Given the description of an element on the screen output the (x, y) to click on. 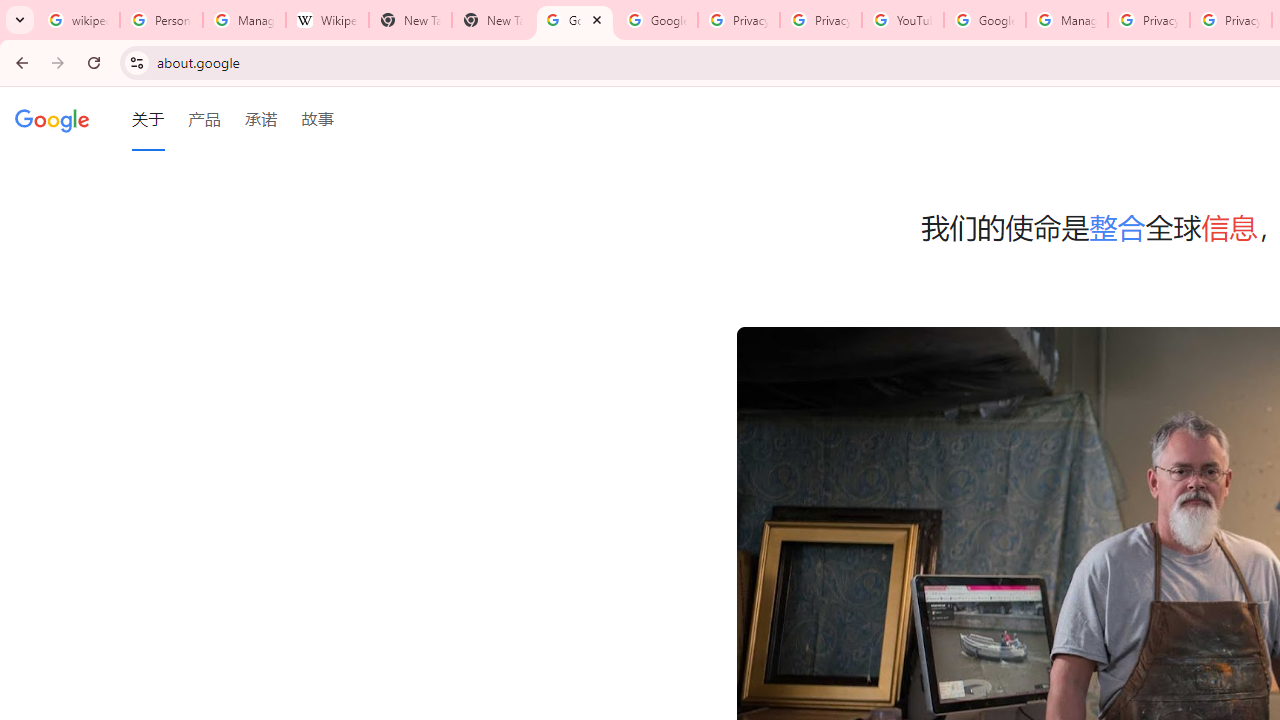
Google Account Help (984, 20)
New Tab (409, 20)
New Tab (492, 20)
Google Drive: Sign-in (656, 20)
Personalization & Google Search results - Google Search Help (161, 20)
